Given the description of an element on the screen output the (x, y) to click on. 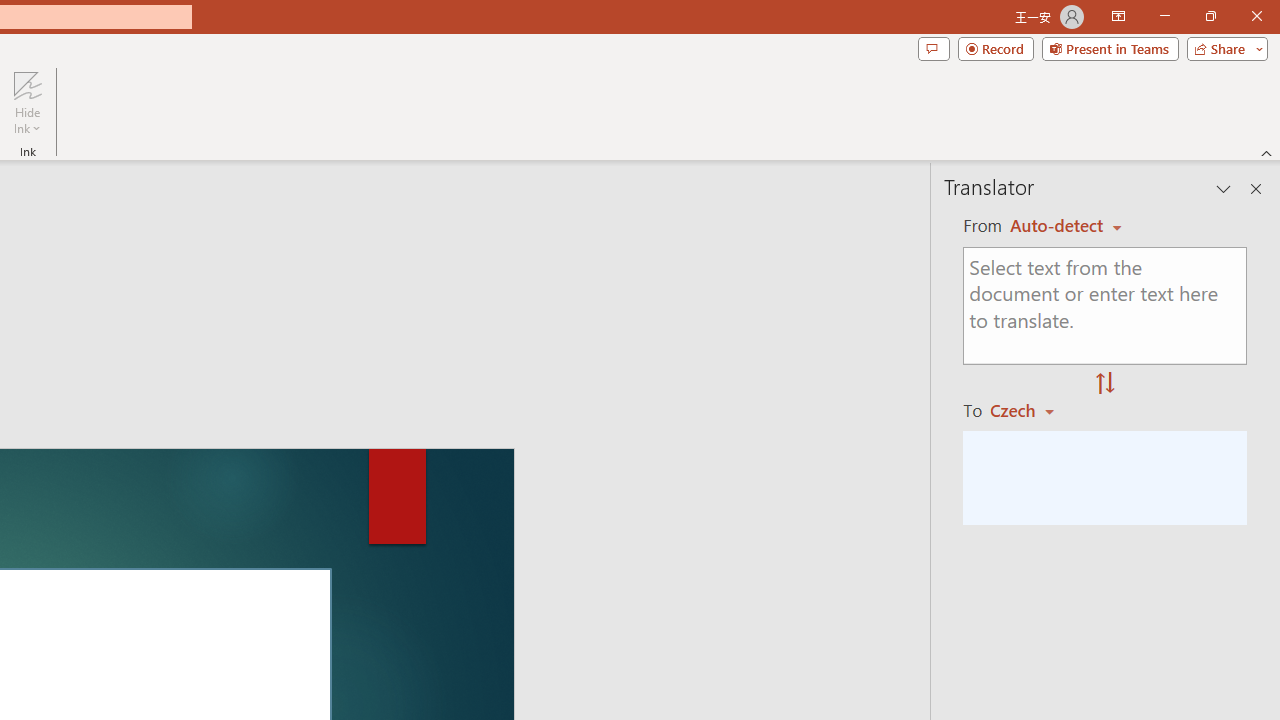
Hide Ink (27, 102)
Close pane (1256, 188)
Task Pane Options (1224, 188)
Czech (1030, 409)
Swap "from" and "to" languages. (1105, 383)
